Given the description of an element on the screen output the (x, y) to click on. 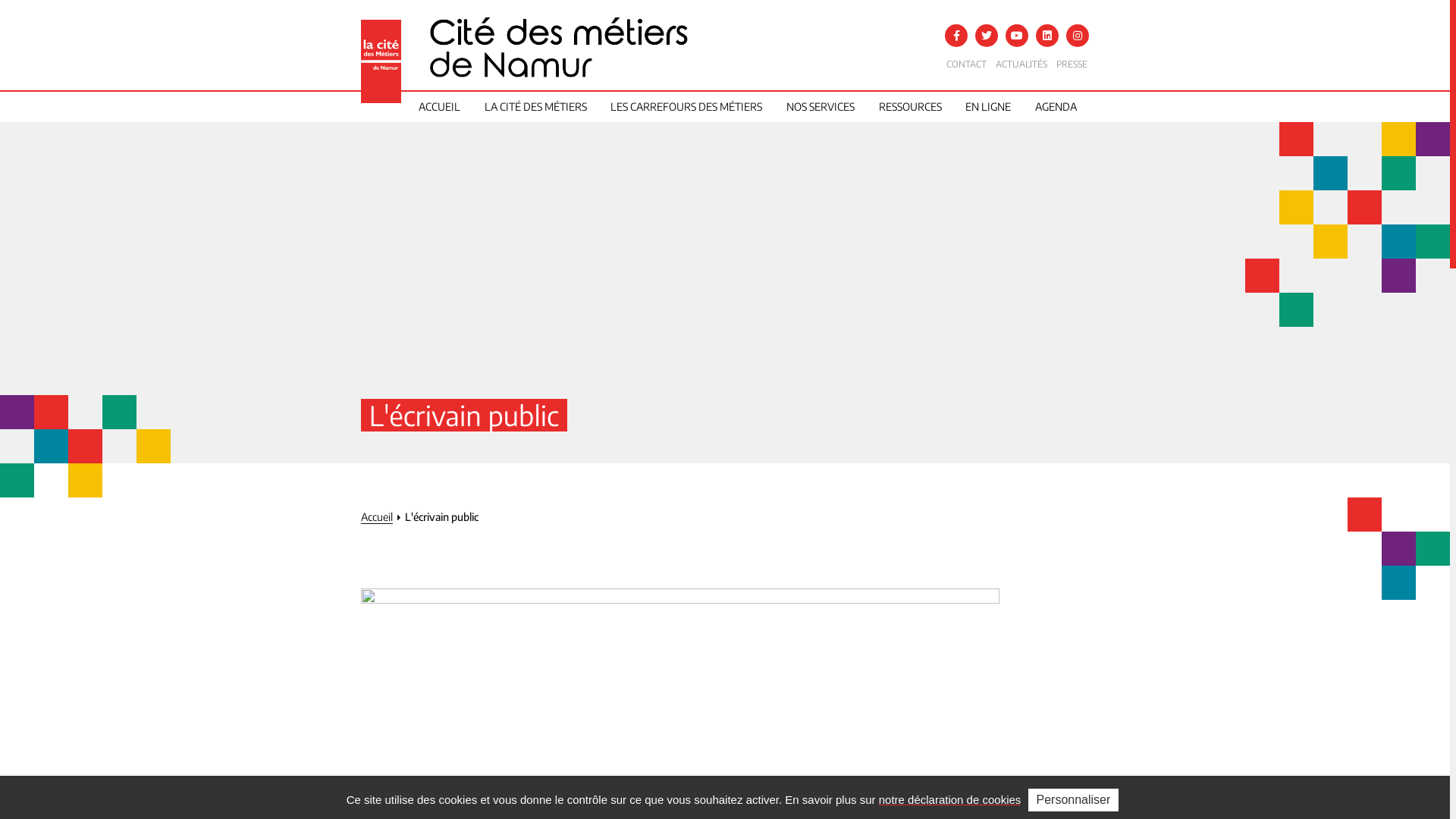
Rejoignez-nous sur Instagram ! Element type: hover (1077, 35)
NOS SERVICES Element type: text (820, 106)
PRESSE Element type: text (1071, 64)
Rejoignez-nous sur Twitter ! Element type: hover (986, 35)
Accueil Element type: text (376, 516)
Rejoignez-nous sur Youtube ! Element type: hover (1016, 35)
RESSOURCES Element type: text (910, 106)
Rejoignez-nous sur LinkedIn ! Element type: hover (1046, 35)
Rejoignez-nous sur Facebook ! Element type: hover (955, 35)
EN LIGNE Element type: text (987, 106)
ACCUEIL Element type: text (439, 106)
CONTACT Element type: text (966, 64)
AGENDA Element type: text (1055, 106)
Personnaliser Element type: text (1073, 799)
